Given the description of an element on the screen output the (x, y) to click on. 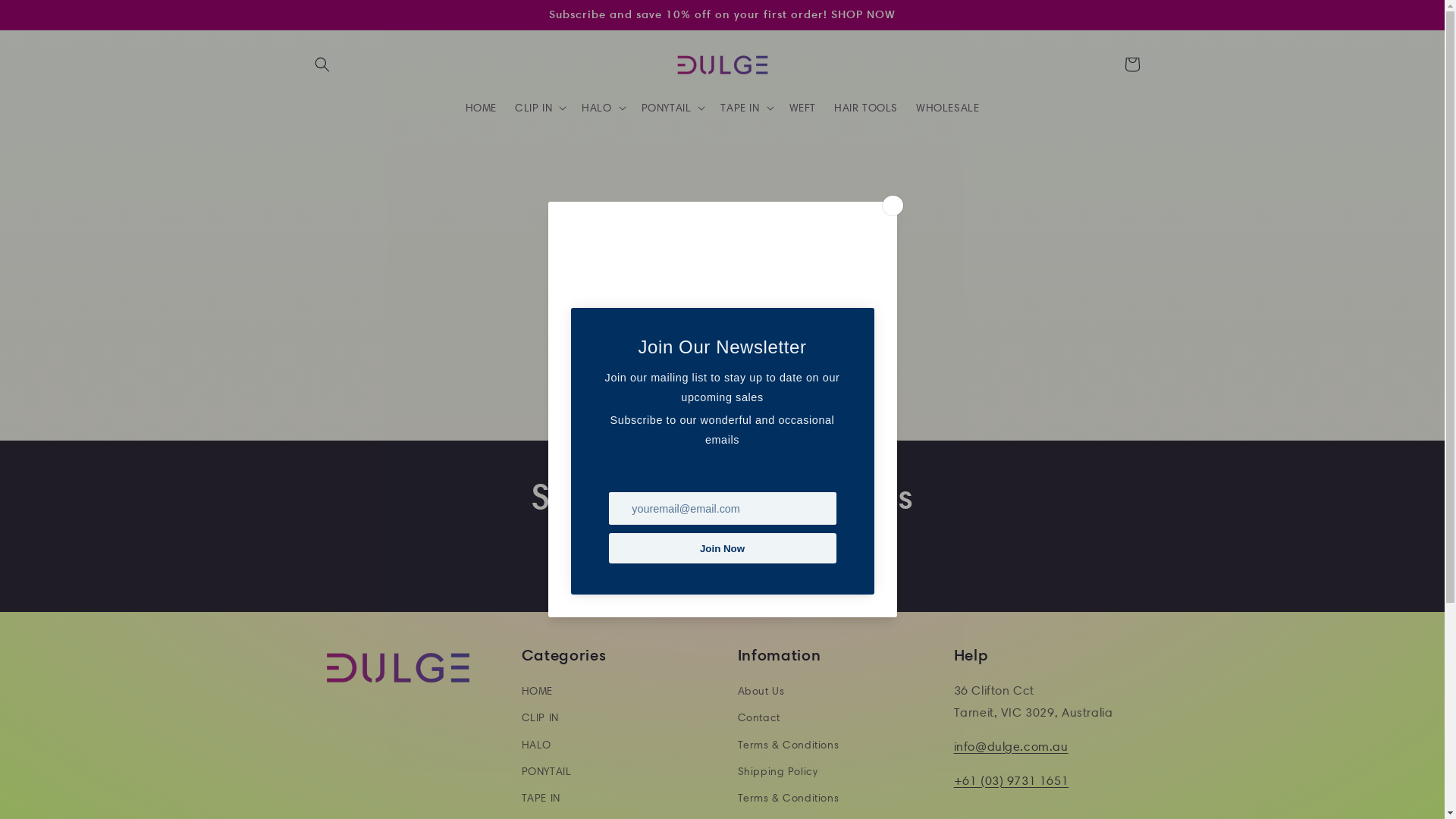
CLIP IN Element type: text (539, 717)
HALO Element type: text (536, 744)
info@dulge.com.au Element type: text (1010, 746)
Terms & Conditions Element type: text (787, 797)
Contact Element type: text (758, 717)
About Us Element type: text (760, 692)
HAIR TOOLS Element type: text (865, 107)
Terms & Conditions Element type: text (787, 744)
WEFT Element type: text (802, 107)
Shipping Policy Element type: text (777, 771)
HOME Element type: text (480, 107)
Continue shopping Element type: text (722, 369)
+61 (03) 9731 1651 Element type: text (1011, 780)
HOME Element type: text (536, 692)
WHOLESALE Element type: text (947, 107)
TAPE IN Element type: text (540, 797)
PONYTAIL Element type: text (546, 771)
Cart Element type: text (1131, 64)
